Given the description of an element on the screen output the (x, y) to click on. 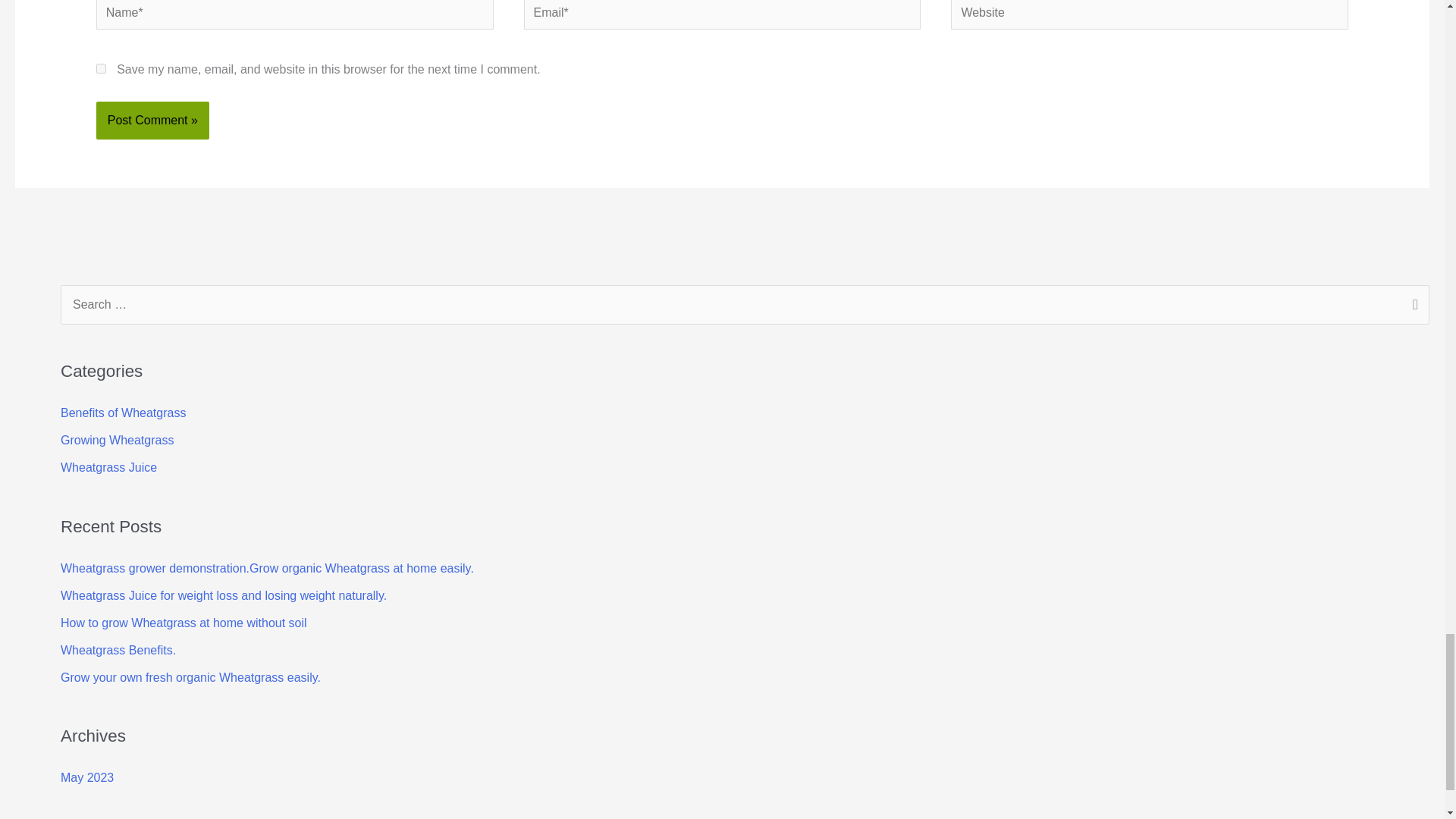
Benefits of Wheatgrass (123, 412)
May 2023 (87, 777)
Wheatgrass Benefits. (118, 649)
Wheatgrass Juice (109, 467)
How to grow Wheatgrass at home without soil (184, 622)
yes (101, 68)
Growing Wheatgrass (117, 440)
Grow your own fresh organic Wheatgrass easily. (190, 676)
